Given the description of an element on the screen output the (x, y) to click on. 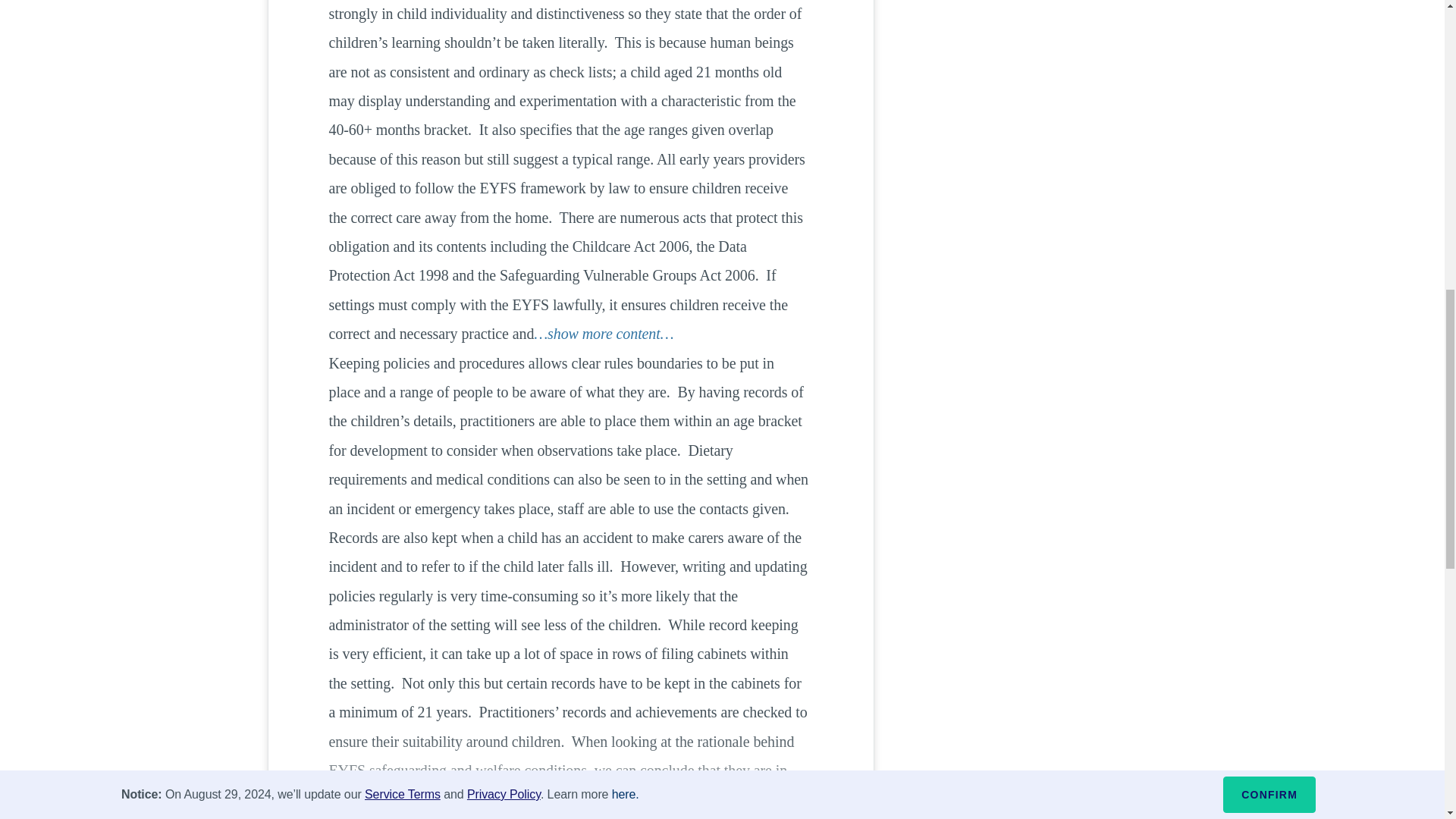
Show More (569, 792)
